Given the description of an element on the screen output the (x, y) to click on. 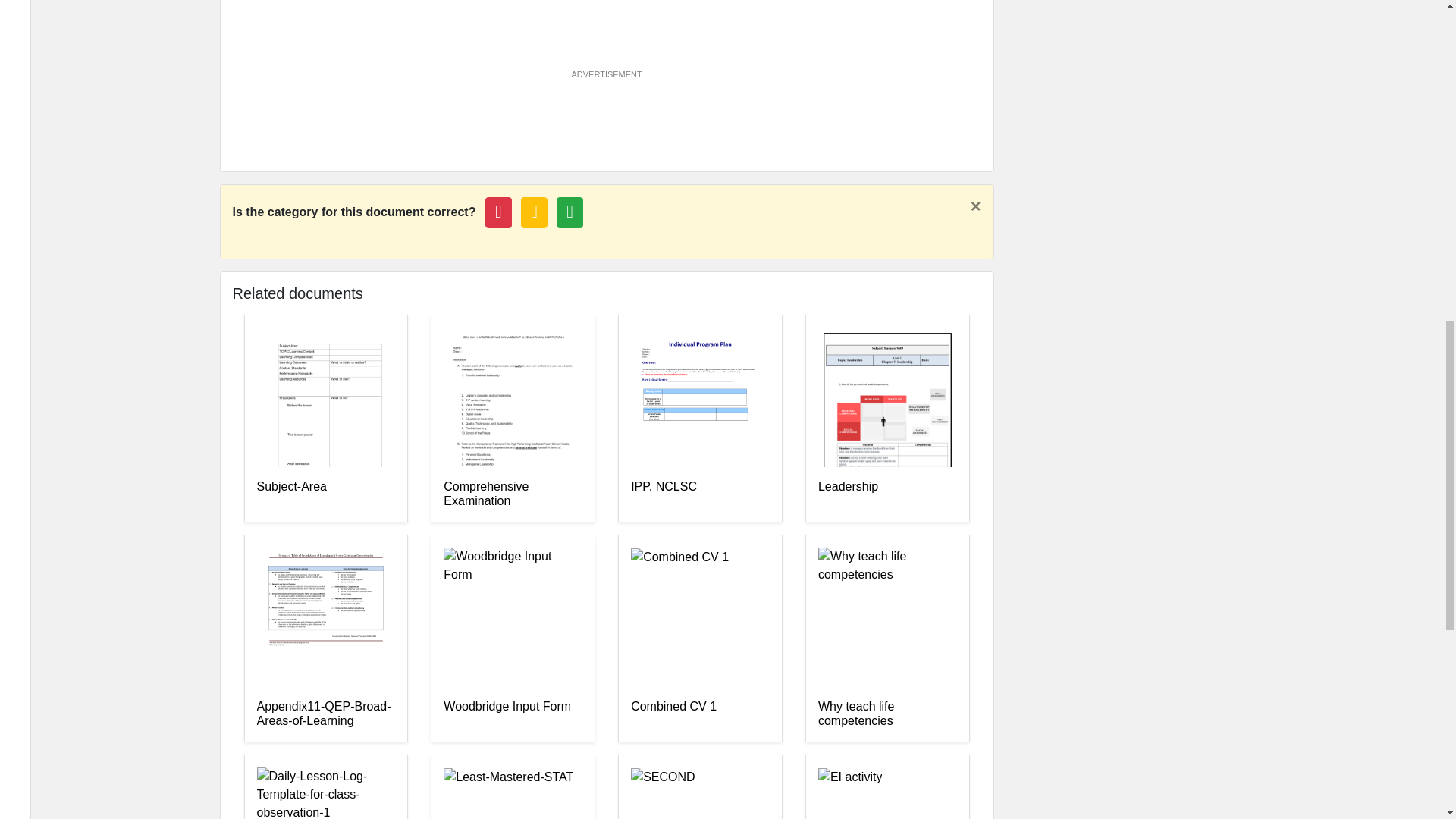
Combined CV 1 (700, 714)
Comprehensive Examination (513, 494)
Subject-Area (325, 494)
IPP. NCLSC (700, 494)
Appendix11-QEP-Broad-Areas-of-Learning (325, 714)
Appendix11-QEP-Broad-Areas-of-Learning (325, 714)
Woodbridge Input Form (513, 714)
Woodbridge Input Form (513, 714)
Leadership (887, 494)
Combined CV 1 (700, 714)
Comprehensive Examination (513, 494)
Subject-Area (325, 494)
Why teach life competencies (887, 714)
IPP. NCLSC (700, 494)
Leadership (887, 494)
